Given the description of an element on the screen output the (x, y) to click on. 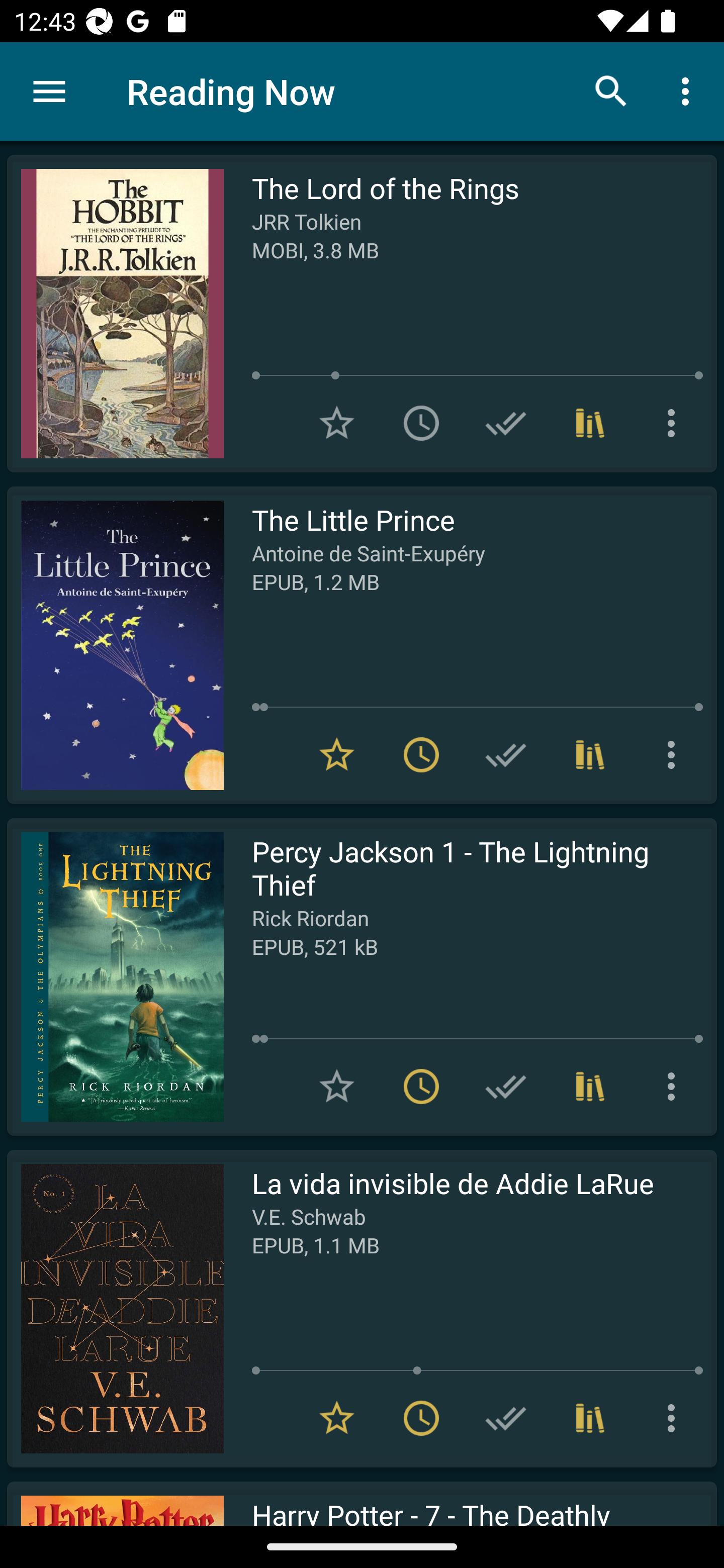
Menu (49, 91)
Search books & documents (611, 90)
More options (688, 90)
Read The Lord of the Rings (115, 313)
Add to Favorites (336, 423)
Add to To read (421, 423)
Add to Have read (505, 423)
Collections (1) (590, 423)
More options (674, 423)
Read The Little Prince (115, 645)
Remove from Favorites (336, 753)
Remove from To read (421, 753)
Add to Have read (505, 753)
Collections (1) (590, 753)
More options (674, 753)
Read Percy Jackson 1 - The Lightning Thief (115, 976)
Add to Favorites (336, 1086)
Remove from To read (421, 1086)
Add to Have read (505, 1086)
Collections (1) (590, 1086)
More options (674, 1086)
Read La vida invisible de Addie LaRue (115, 1308)
Remove from Favorites (336, 1417)
Remove from To read (421, 1417)
Add to Have read (505, 1417)
Collections (1) (590, 1417)
More options (674, 1417)
